Given the description of an element on the screen output the (x, y) to click on. 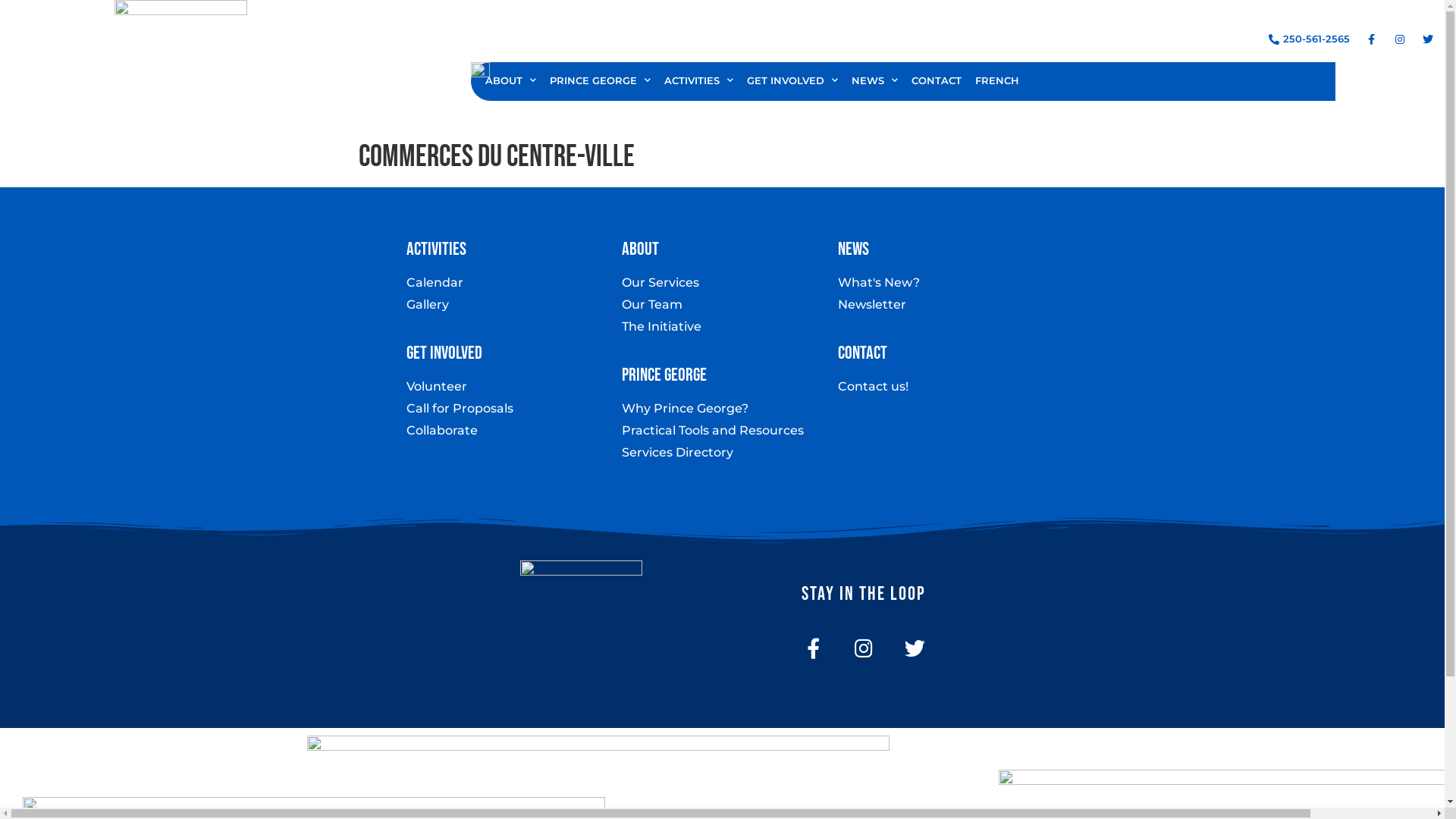
ABOUT Element type: text (510, 79)
Newsletter Element type: text (937, 304)
Our Services Element type: text (721, 282)
250-561-2565 Element type: text (1307, 39)
Our Team Element type: text (721, 304)
Volunteer Element type: text (506, 386)
Collaborate Element type: text (506, 430)
NEWS Element type: text (874, 79)
PRINCE GEORGE Element type: text (599, 79)
Why Prince George? Element type: text (721, 408)
Practical Tools and Resources Element type: text (721, 430)
The Initiative Element type: text (721, 326)
Calendar Element type: text (506, 282)
CONTACT Element type: text (936, 79)
Gallery Element type: text (506, 304)
Call for Proposals Element type: text (506, 408)
What's New? Element type: text (937, 282)
GET INVOLVED Element type: text (792, 79)
FRENCH Element type: text (997, 79)
ACTIVITIES Element type: text (698, 79)
Contact us! Element type: text (937, 386)
Services Directory Element type: text (721, 452)
